Given the description of an element on the screen output the (x, y) to click on. 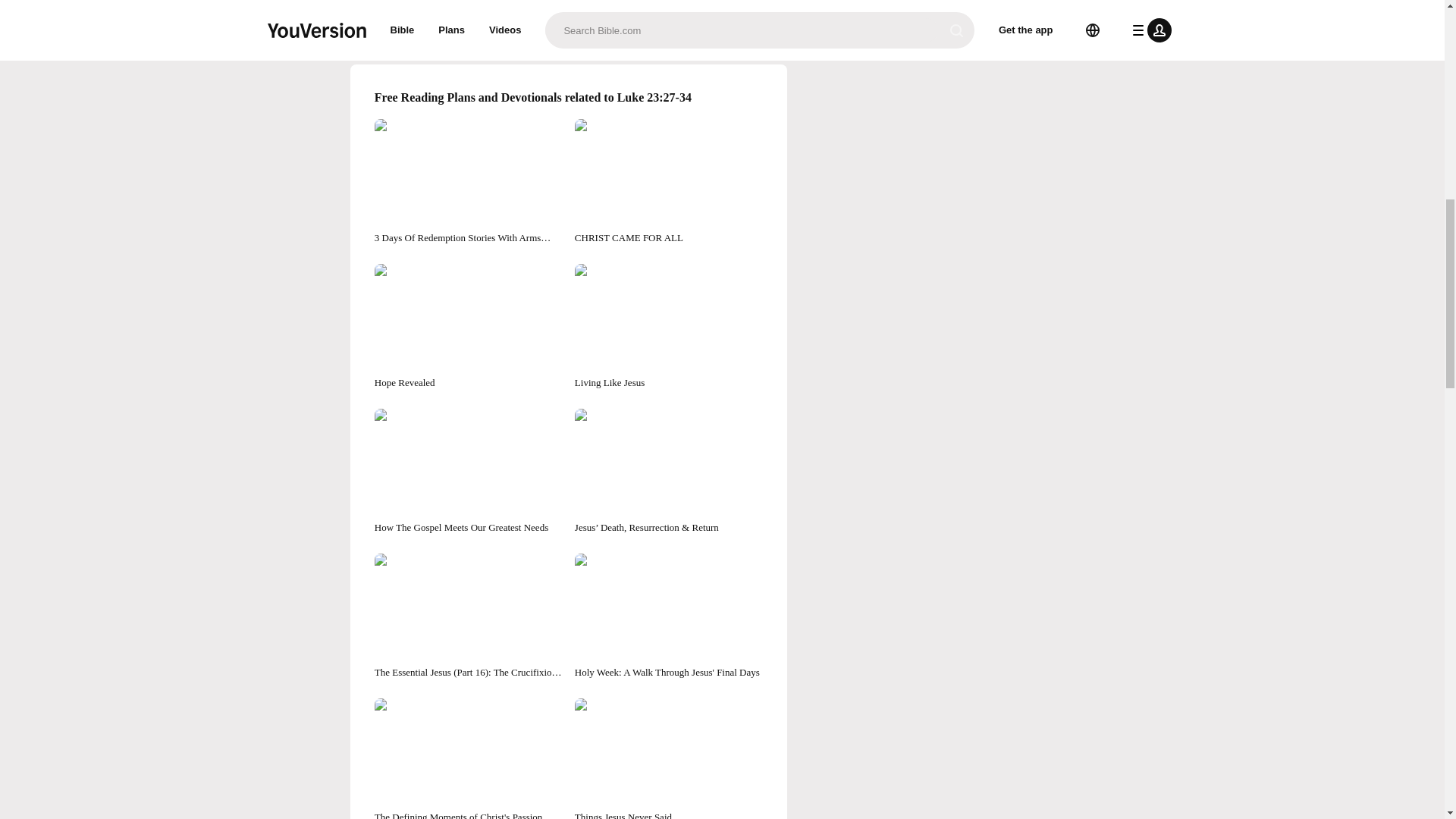
The Defining Moments of Christ's Passion (468, 758)
CHRIST CAME FOR ALL (668, 181)
How The Gospel Meets Our Greatest Needs (468, 471)
Compare All Versions: Luke 23:27-34 (568, 7)
3 Days Of Redemption Stories With Arms Open Wide (468, 181)
Living Like Jesus (668, 326)
Things Jesus Never Said (668, 758)
Holy Week: A Walk Through Jesus' Final Days (668, 616)
Hope Revealed (468, 326)
